Given the description of an element on the screen output the (x, y) to click on. 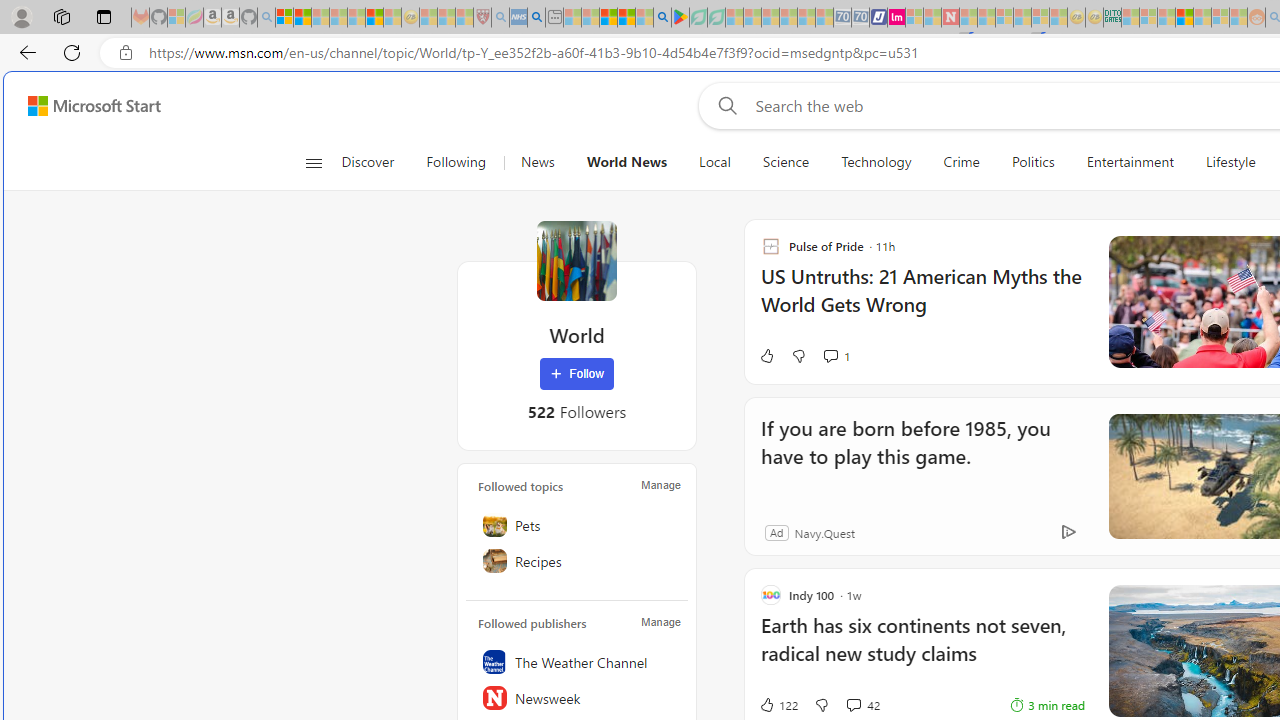
Navy.Quest (824, 532)
Follow (577, 373)
Expert Portfolios (1184, 17)
Newsweek (577, 697)
